Given the description of an element on the screen output the (x, y) to click on. 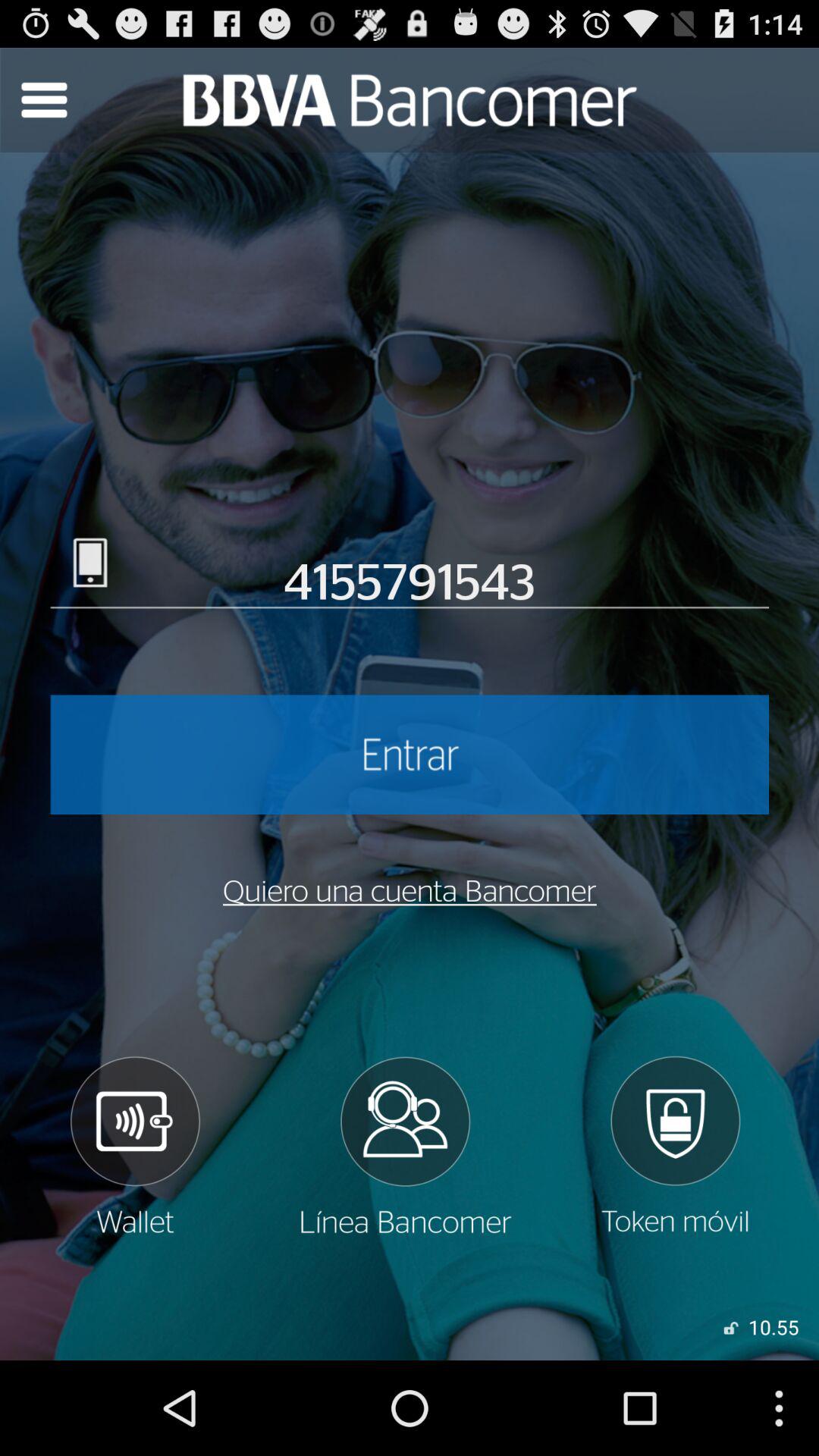
token movil button (674, 1145)
